Given the description of an element on the screen output the (x, y) to click on. 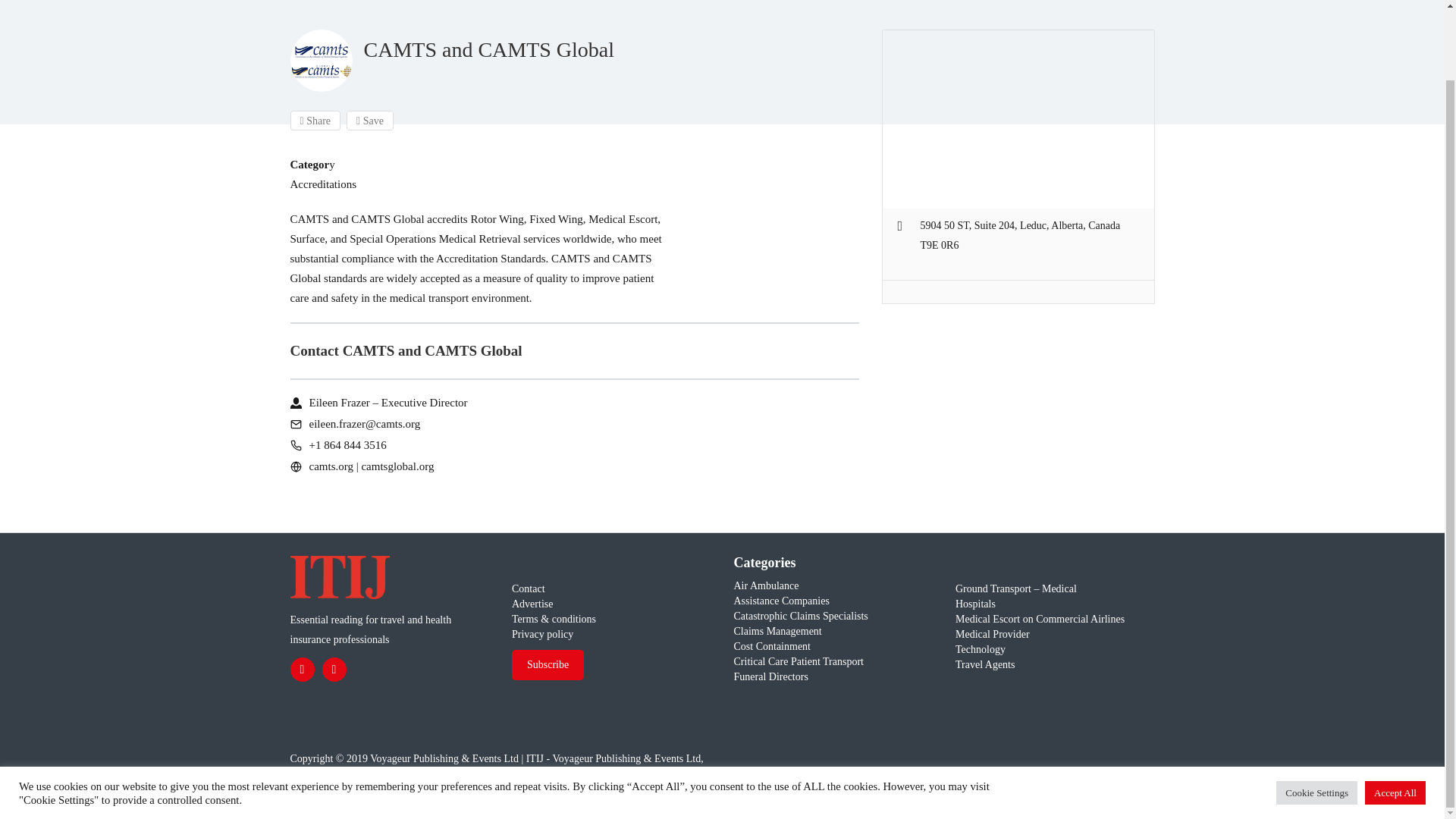
Save (369, 120)
Share (314, 120)
Submit (413, 425)
Claim your business now! (584, 490)
